Given the description of an element on the screen output the (x, y) to click on. 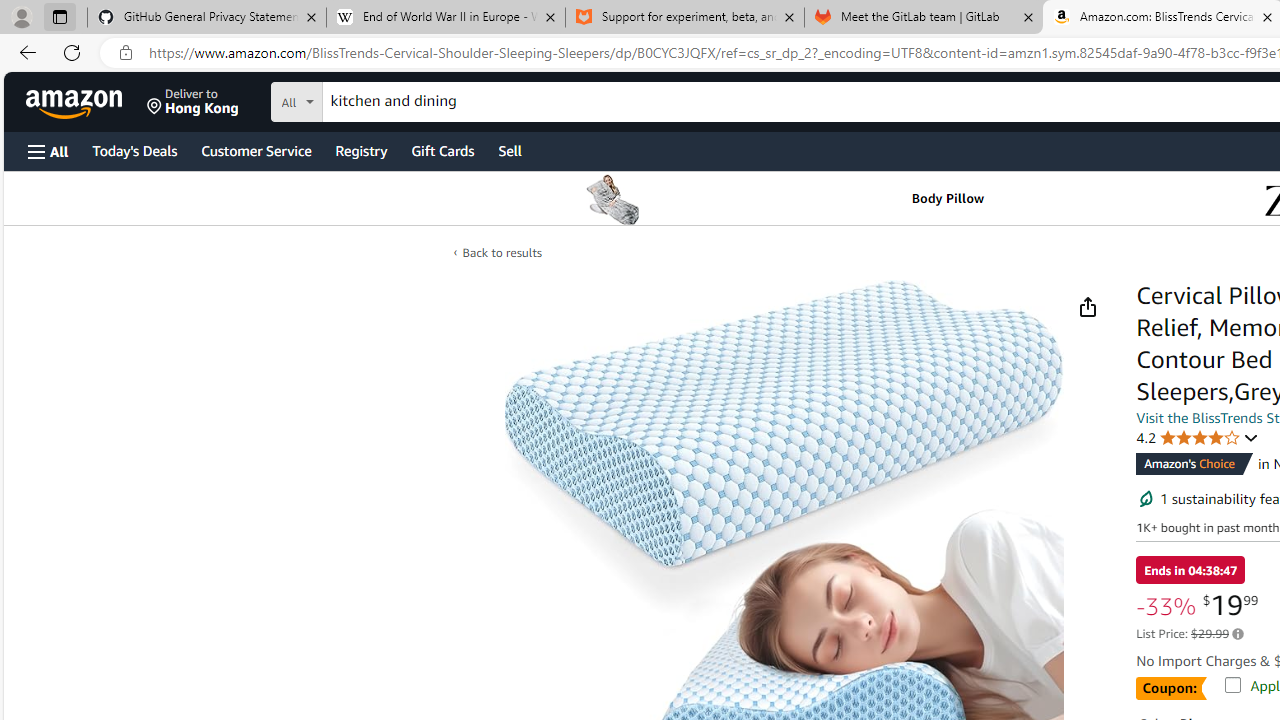
Open Menu (48, 151)
Sell (509, 150)
Today's Deals (134, 150)
Customer Service (256, 150)
Back to results (501, 251)
Meet the GitLab team | GitLab (924, 17)
Gift Cards (442, 150)
Search in (371, 99)
Learn more about Amazon pricing and savings (1238, 633)
